Given the description of an element on the screen output the (x, y) to click on. 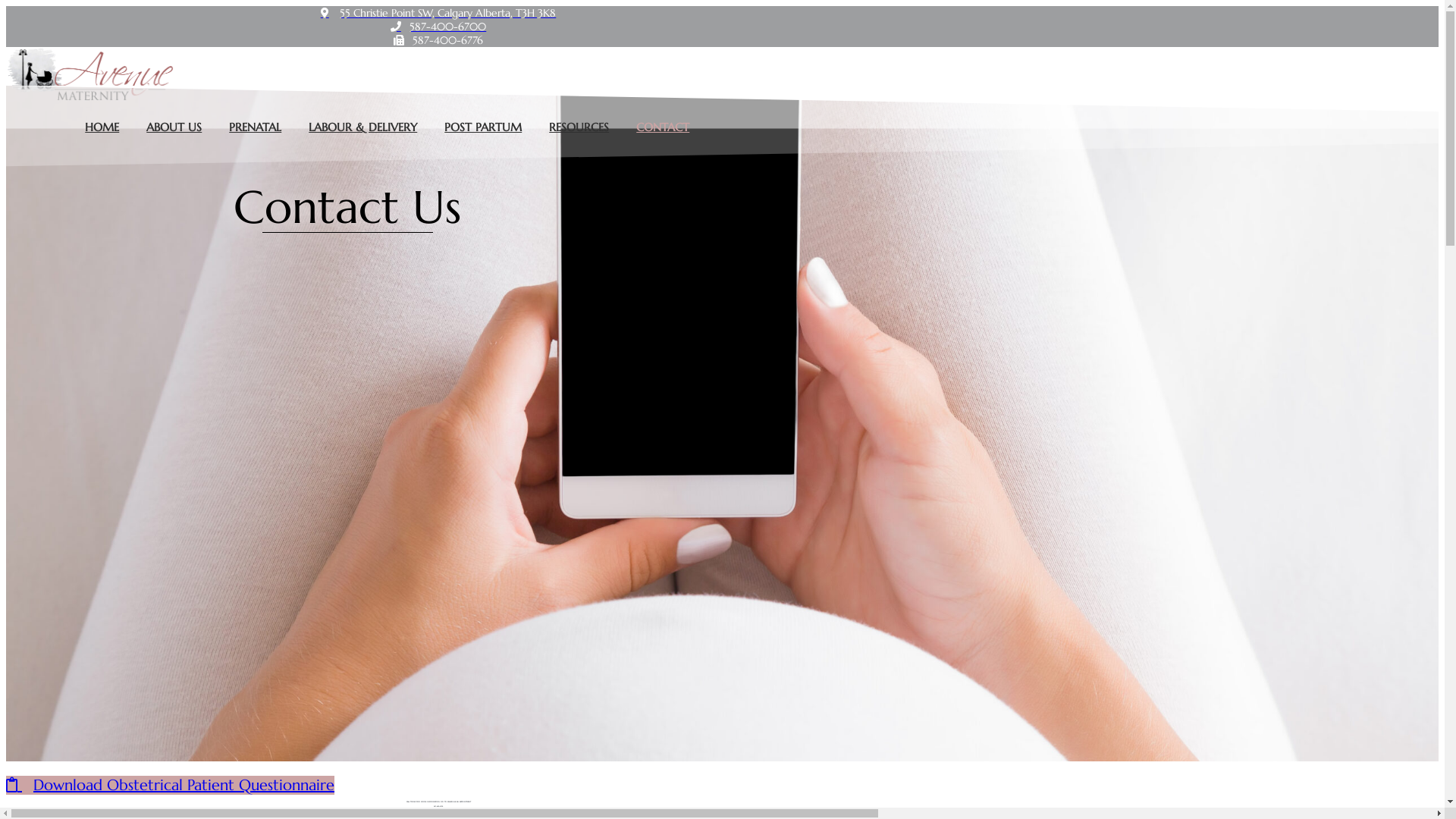
HOME Element type: text (101, 126)
587-400-6700 Element type: text (438, 26)
Download Obstetrical Patient Questionnaire Element type: text (170, 784)
ABOUT US Element type: text (173, 126)
LABOUR & DELIVERY Element type: text (362, 126)
PRENATAL Element type: text (254, 126)
POST PARTUM Element type: text (482, 126)
55 Christie Point SW, Calgary Alberta, T3H 3K8 Element type: text (438, 12)
CONTACT Element type: text (662, 126)
RESOURCES Element type: text (578, 126)
Skip to content Element type: text (5, 5)
